Given the description of an element on the screen output the (x, y) to click on. 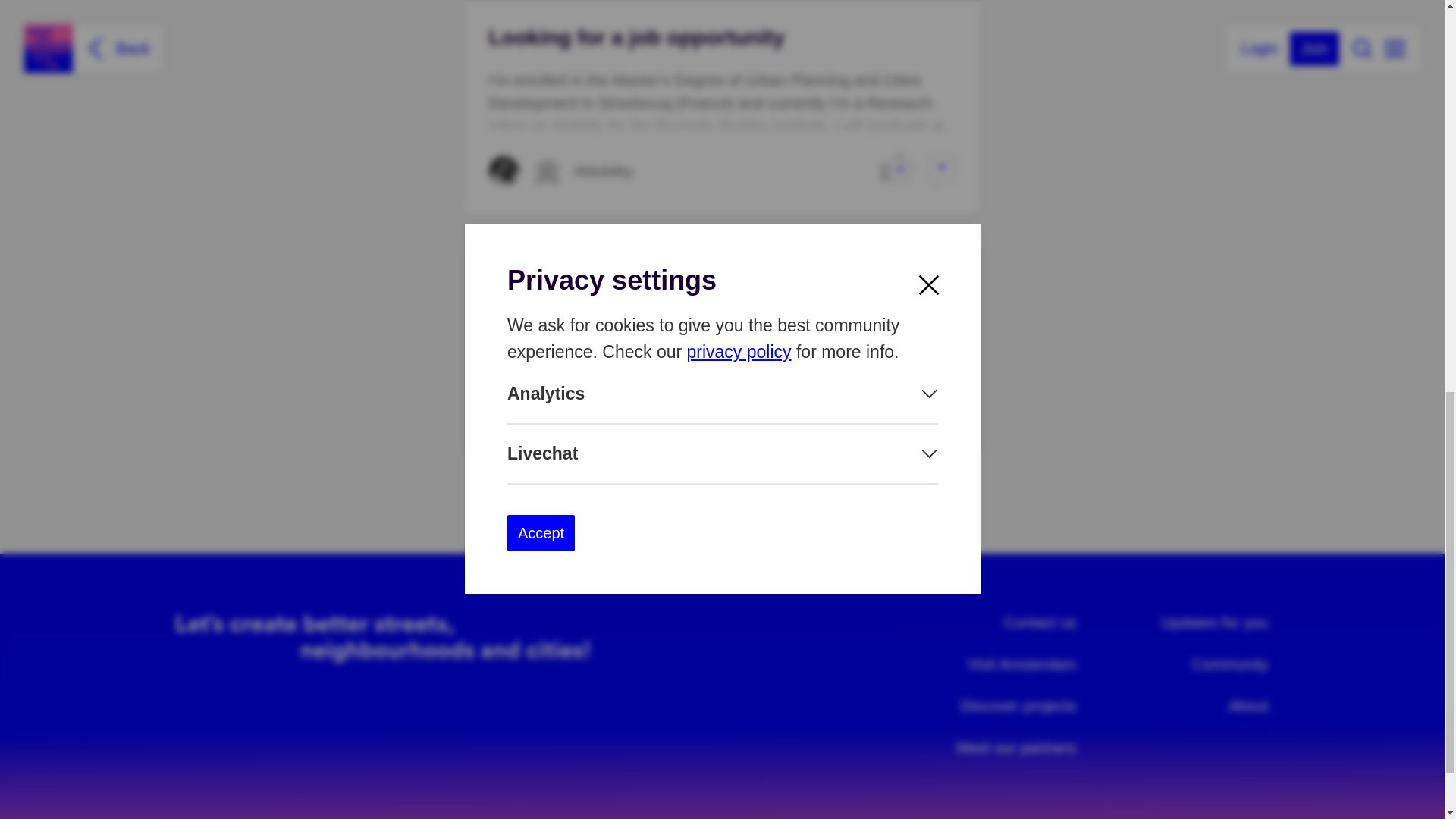
Community (1229, 665)
0 people liked this (897, 165)
Meet our partners (1015, 748)
Set up preferences (576, 406)
Set up preferences (576, 406)
Updates for you (1214, 623)
Mathilde Delrocq (502, 171)
Contact us (1040, 623)
About (1248, 706)
Visit Amsterdam (1020, 665)
